Given the description of an element on the screen output the (x, y) to click on. 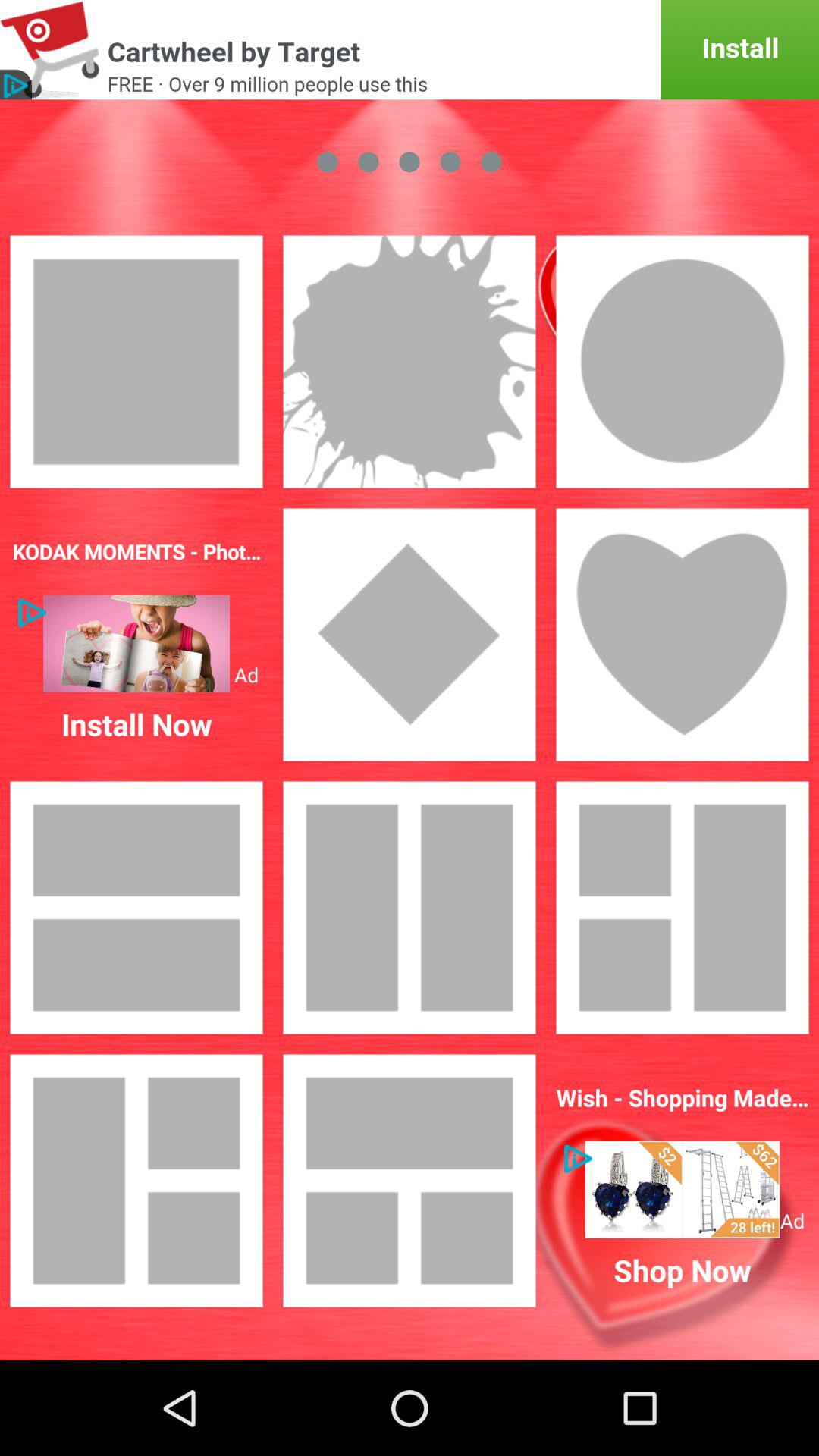
shopping box option (682, 1189)
